Given the description of an element on the screen output the (x, y) to click on. 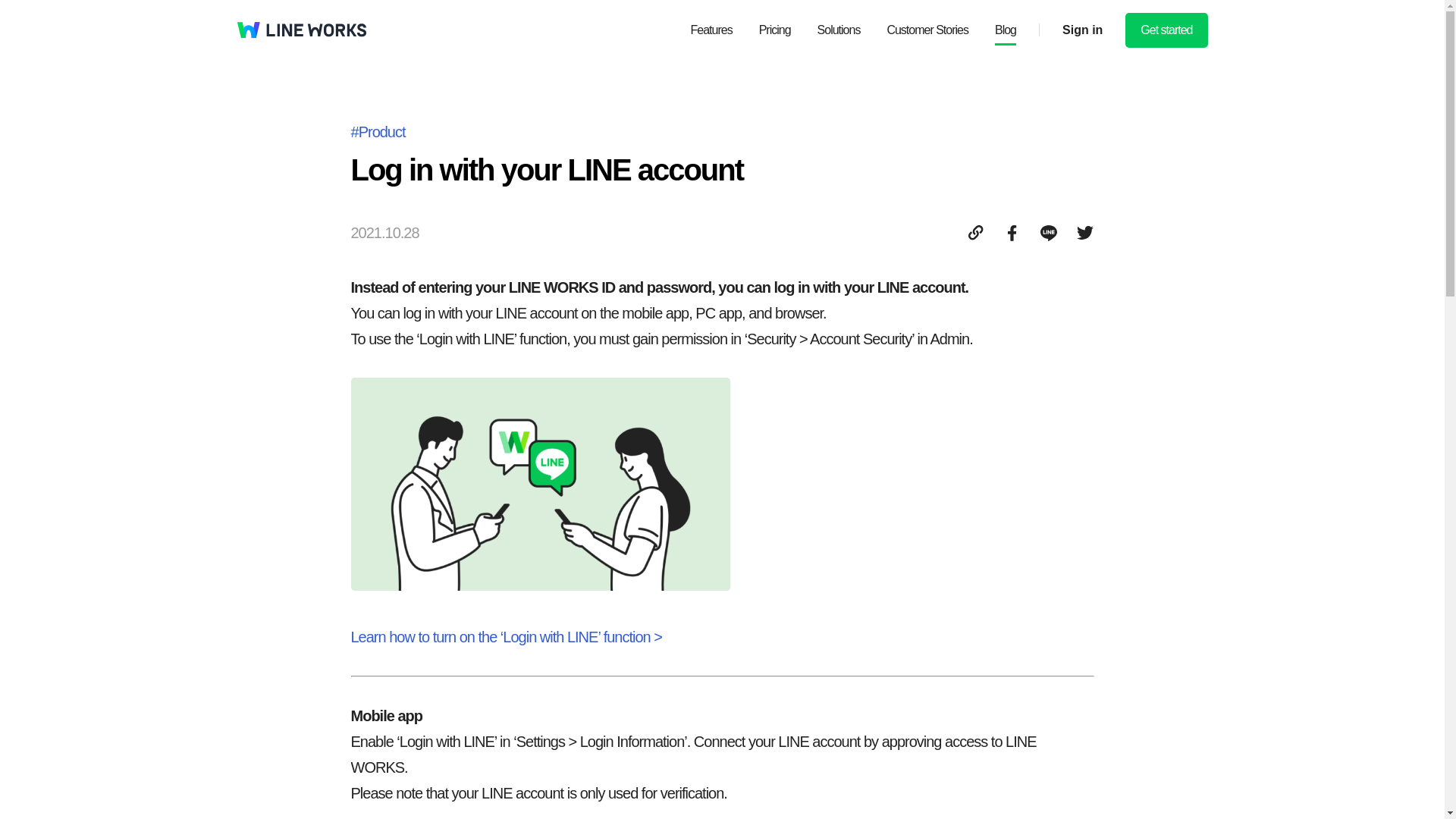
Sign in (1070, 30)
Solutions (838, 29)
Features (711, 29)
Customer Stories (927, 29)
Get started (1166, 30)
Pricing (774, 29)
